Given the description of an element on the screen output the (x, y) to click on. 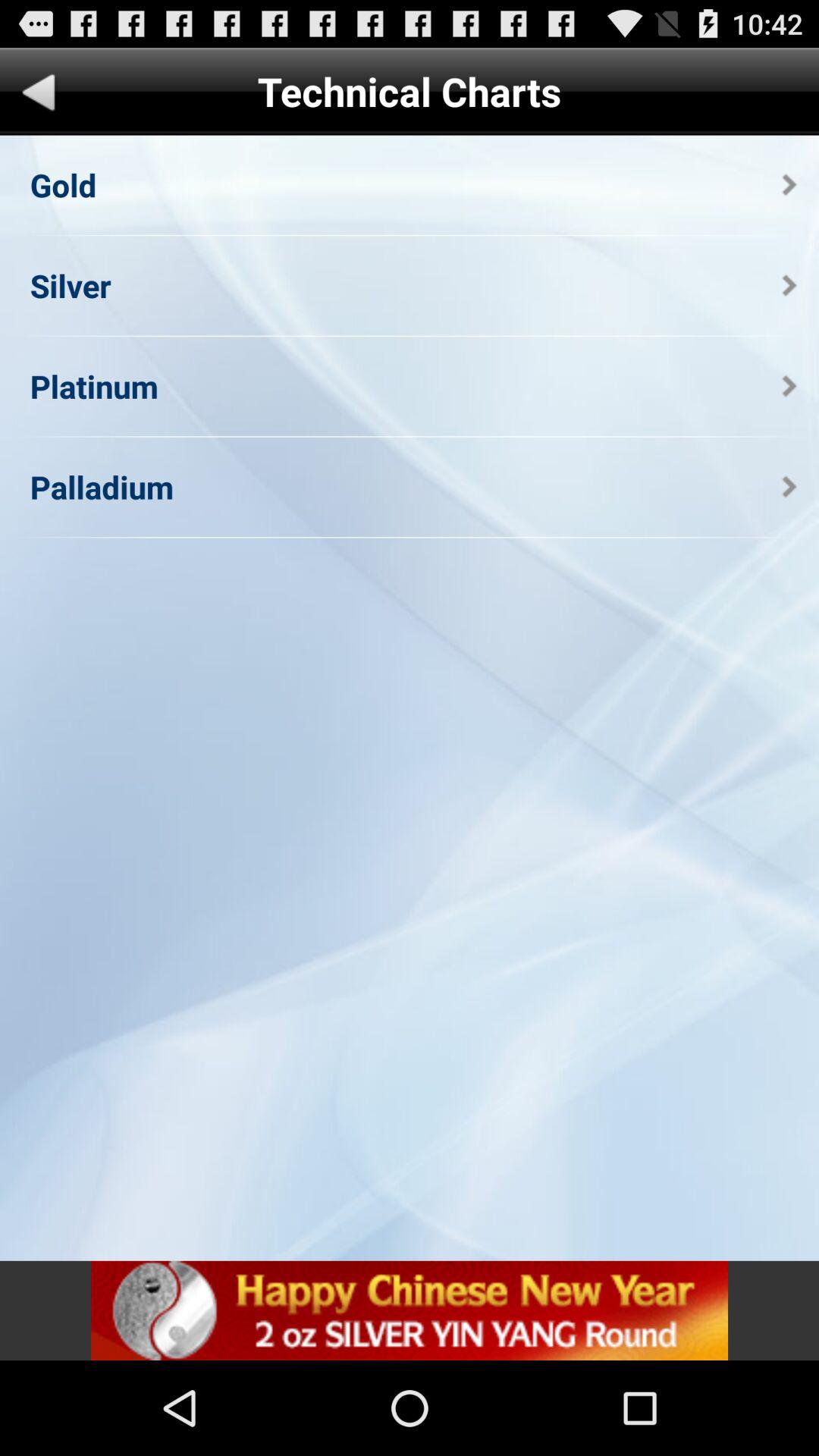
click icon at the bottom (409, 1310)
